Given the description of an element on the screen output the (x, y) to click on. 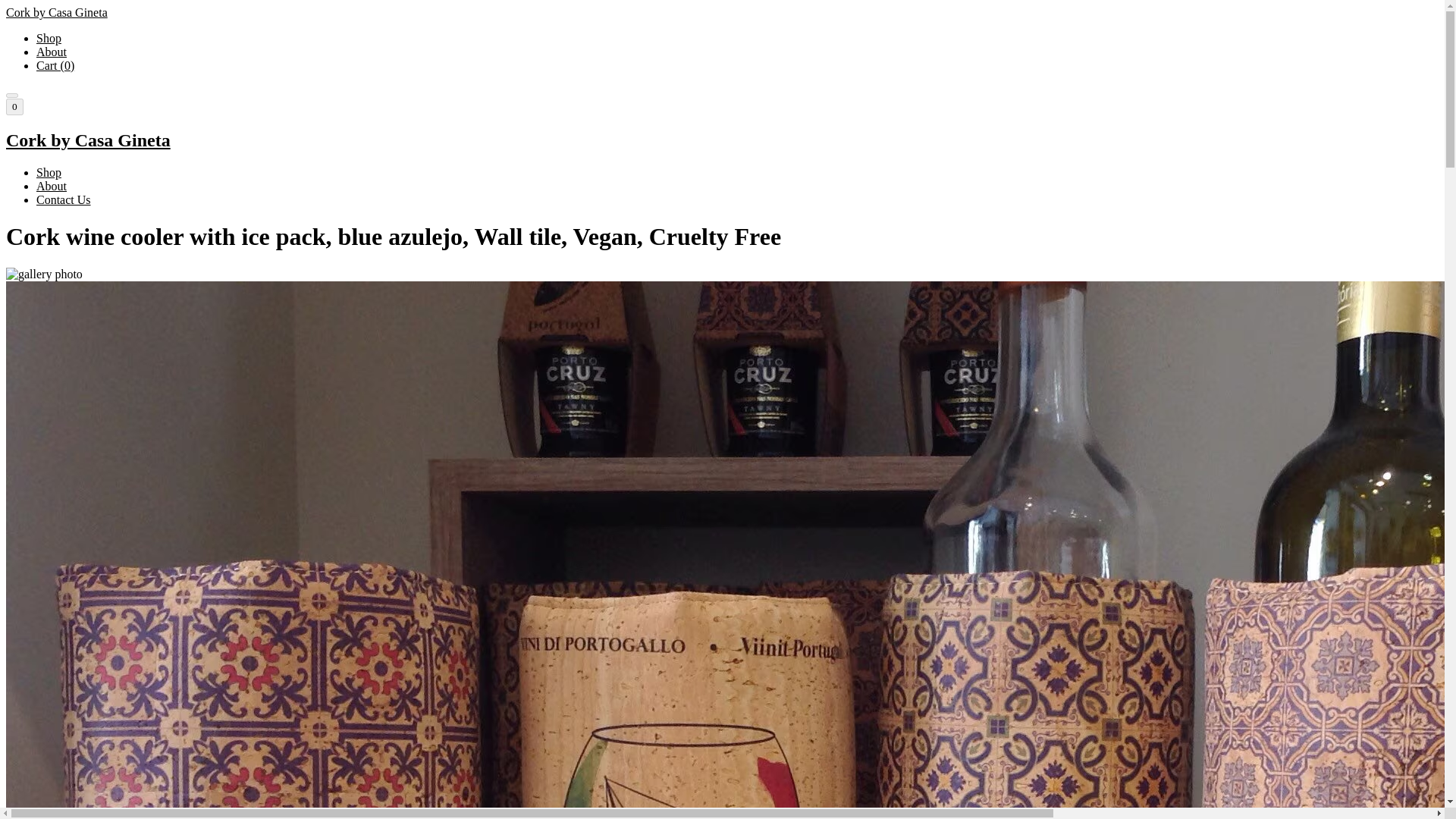
About (51, 51)
Shop (48, 38)
0 (14, 106)
Cork by Casa Gineta (721, 140)
Contact Us (63, 199)
Shop (48, 172)
About (51, 185)
